Given the description of an element on the screen output the (x, y) to click on. 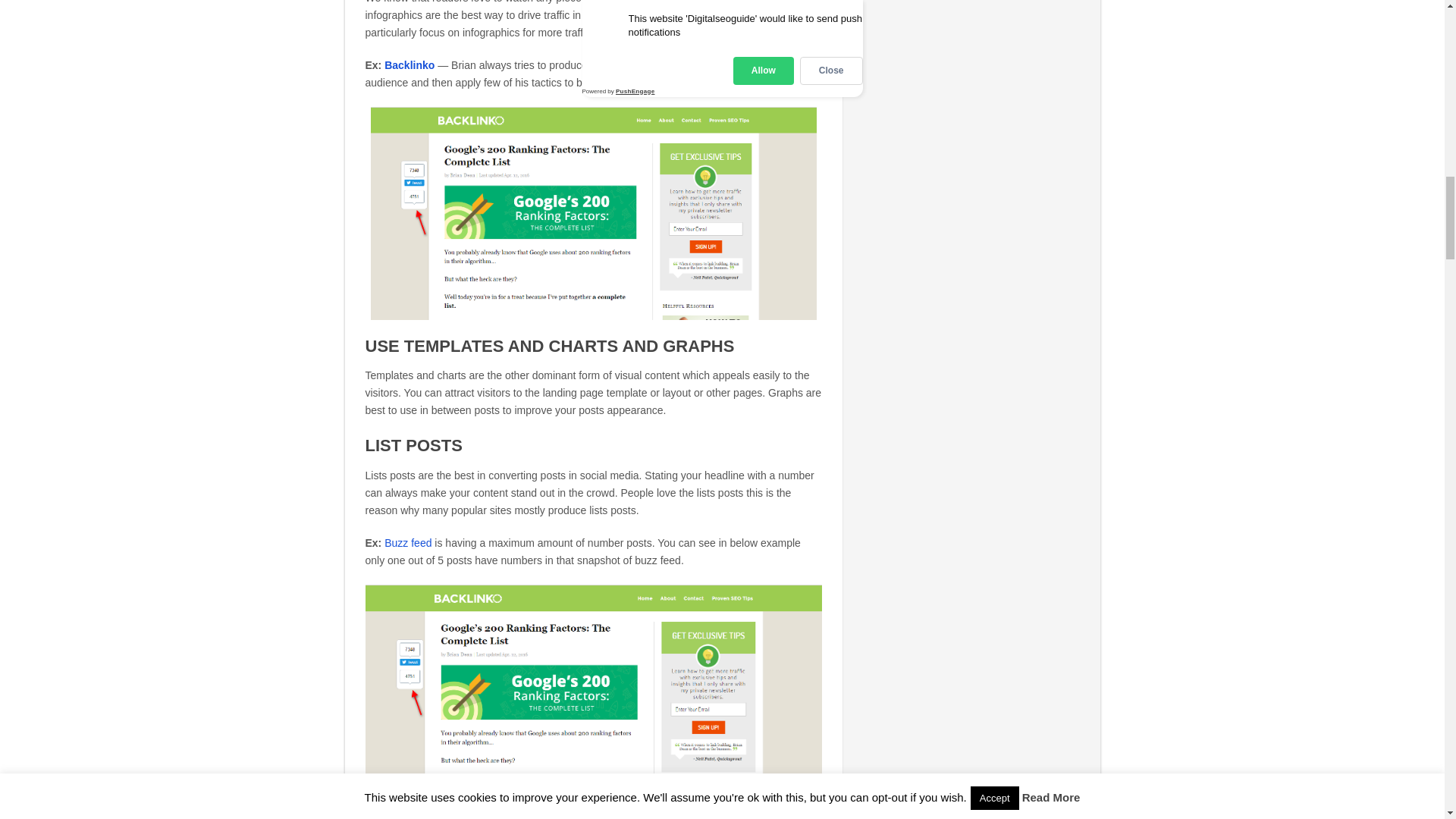
Backlinko (408, 64)
Buzz feed (407, 542)
